Given the description of an element on the screen output the (x, y) to click on. 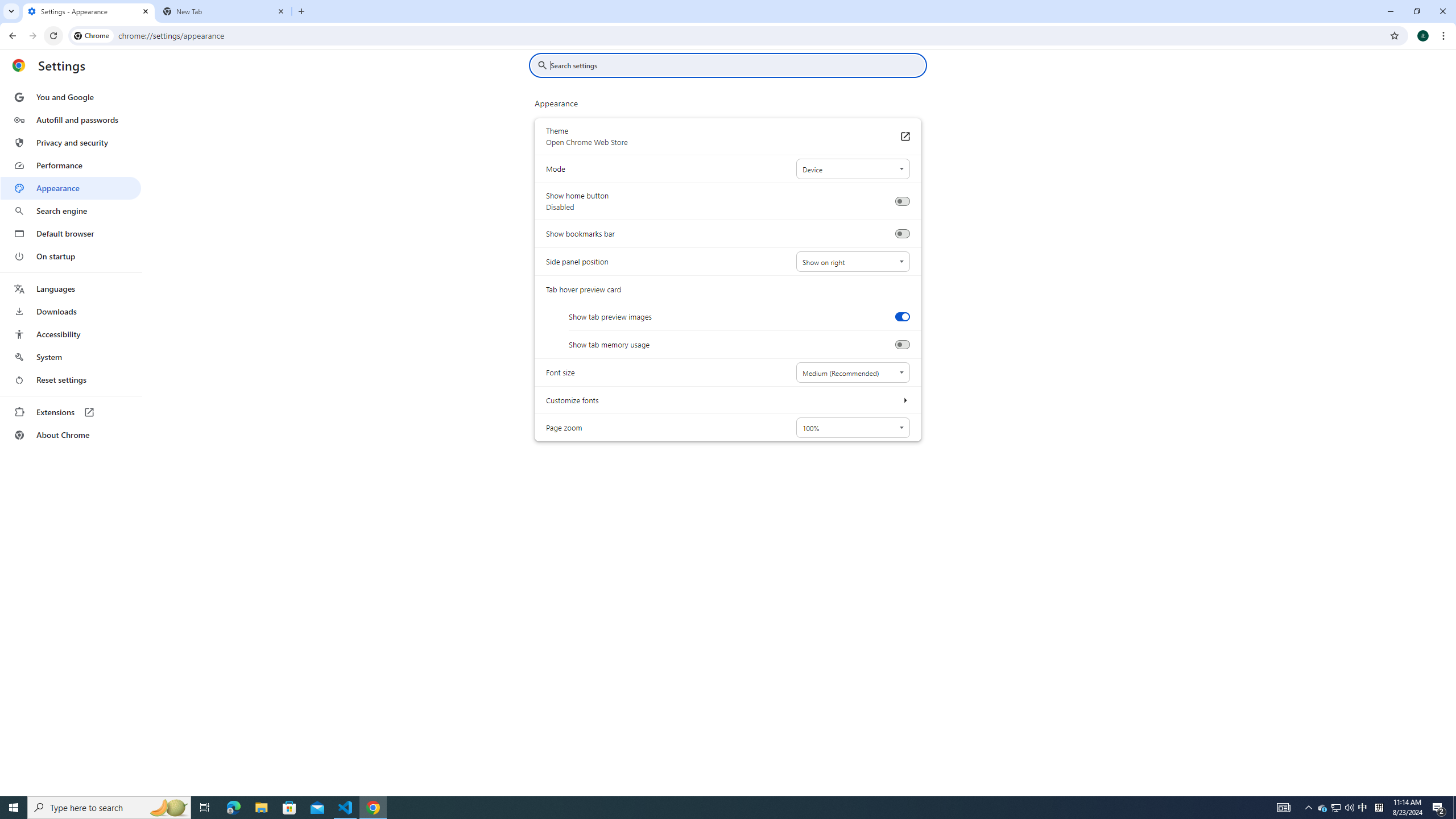
Font size (852, 372)
Privacy and security (70, 142)
You and Google (70, 96)
Mode (852, 168)
Side panel position (852, 261)
Default browser (70, 233)
AutomationID: menu (71, 265)
Settings - Appearance (88, 11)
Languages (70, 288)
Appearance (70, 187)
Autofill and passwords (70, 119)
